Given the description of an element on the screen output the (x, y) to click on. 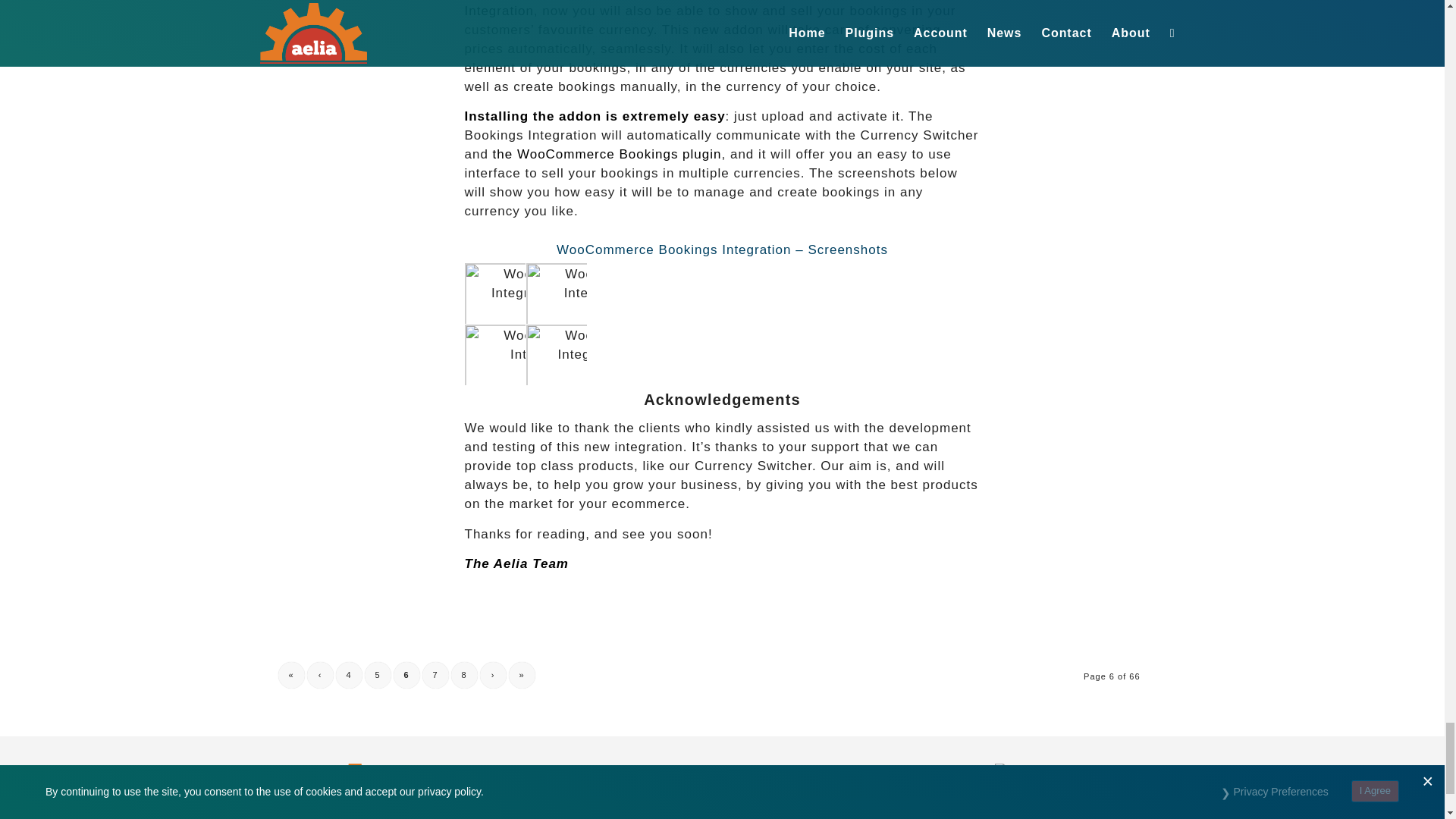
The WooCommerce Internationalisation experts (353, 791)
